Given the description of an element on the screen output the (x, y) to click on. 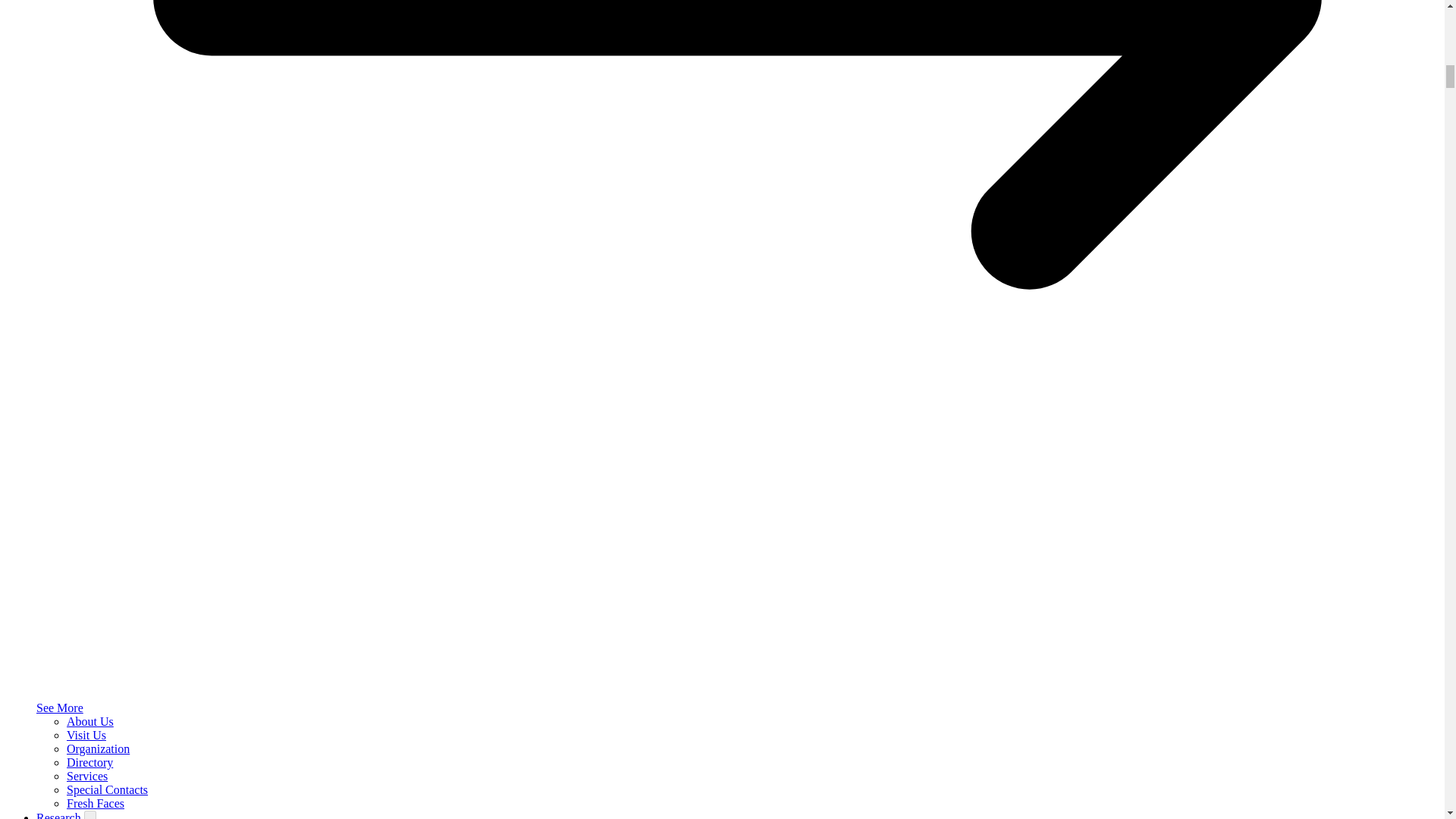
Special Contacts (107, 789)
About Us (89, 721)
Research (60, 815)
Organization (97, 748)
See More (59, 707)
Fresh Faces (94, 802)
Services (86, 775)
Visit Us (86, 735)
Directory (89, 762)
Fresh Faces (94, 802)
Services (86, 775)
Directory (89, 762)
Special Contacts (107, 789)
Organization (97, 748)
About Us (89, 721)
